Given the description of an element on the screen output the (x, y) to click on. 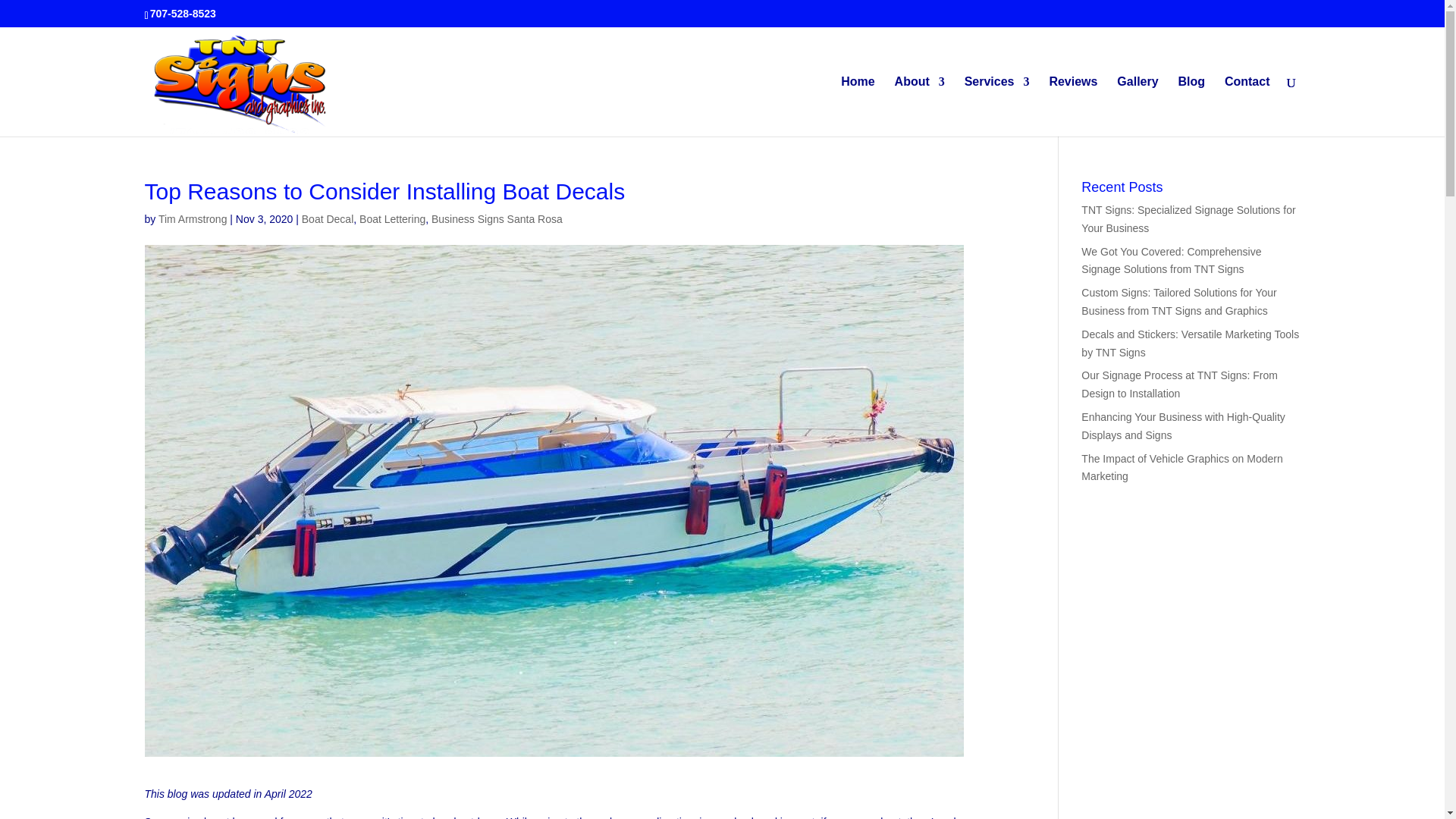
Services (996, 106)
Business Signs Santa Rosa (496, 218)
Tim Armstrong (192, 218)
Boat Decal (327, 218)
Posts by Tim Armstrong (192, 218)
Boat Lettering (392, 218)
